Given the description of an element on the screen output the (x, y) to click on. 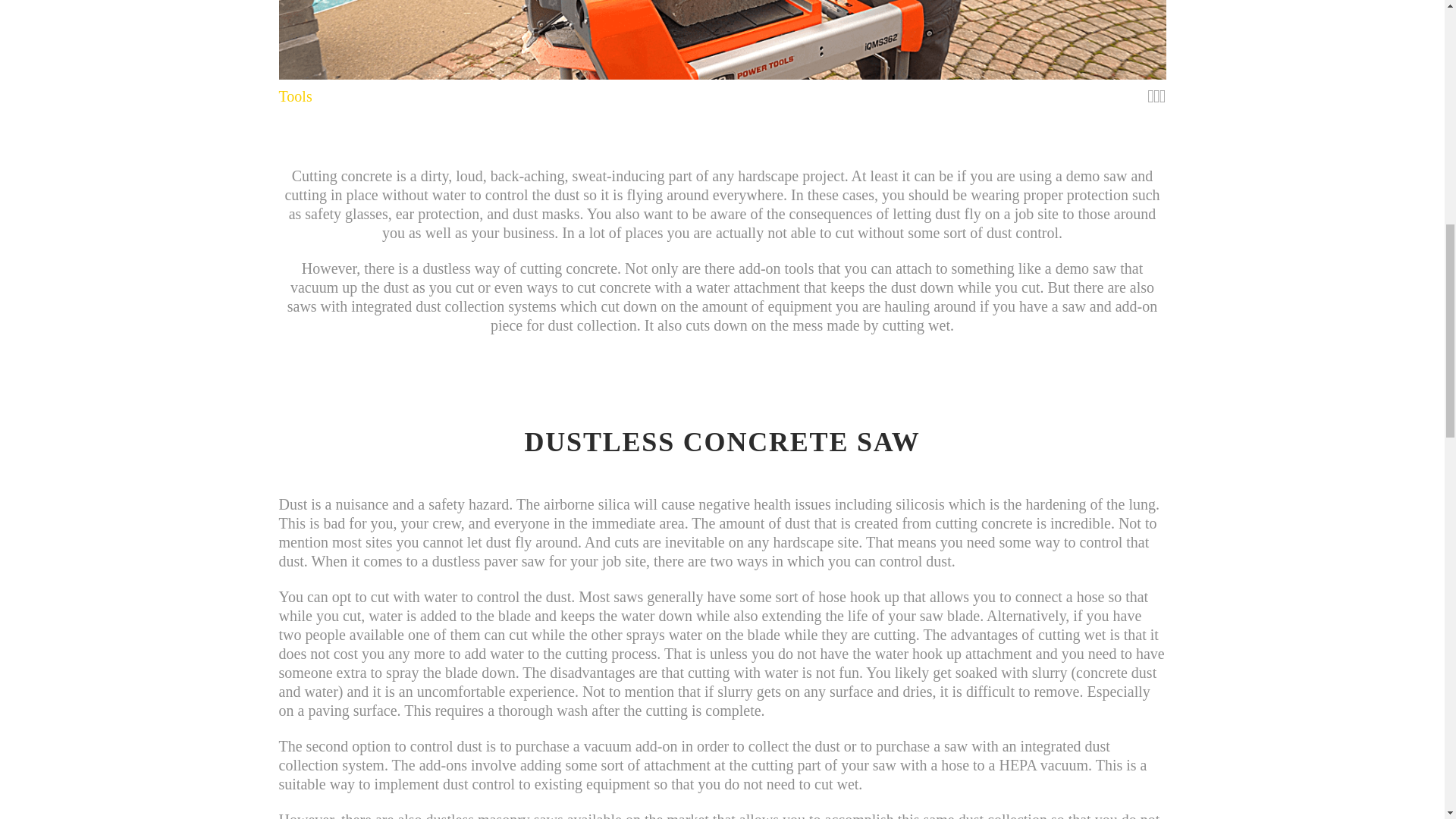
View all posts in Tools (296, 95)
